Given the description of an element on the screen output the (x, y) to click on. 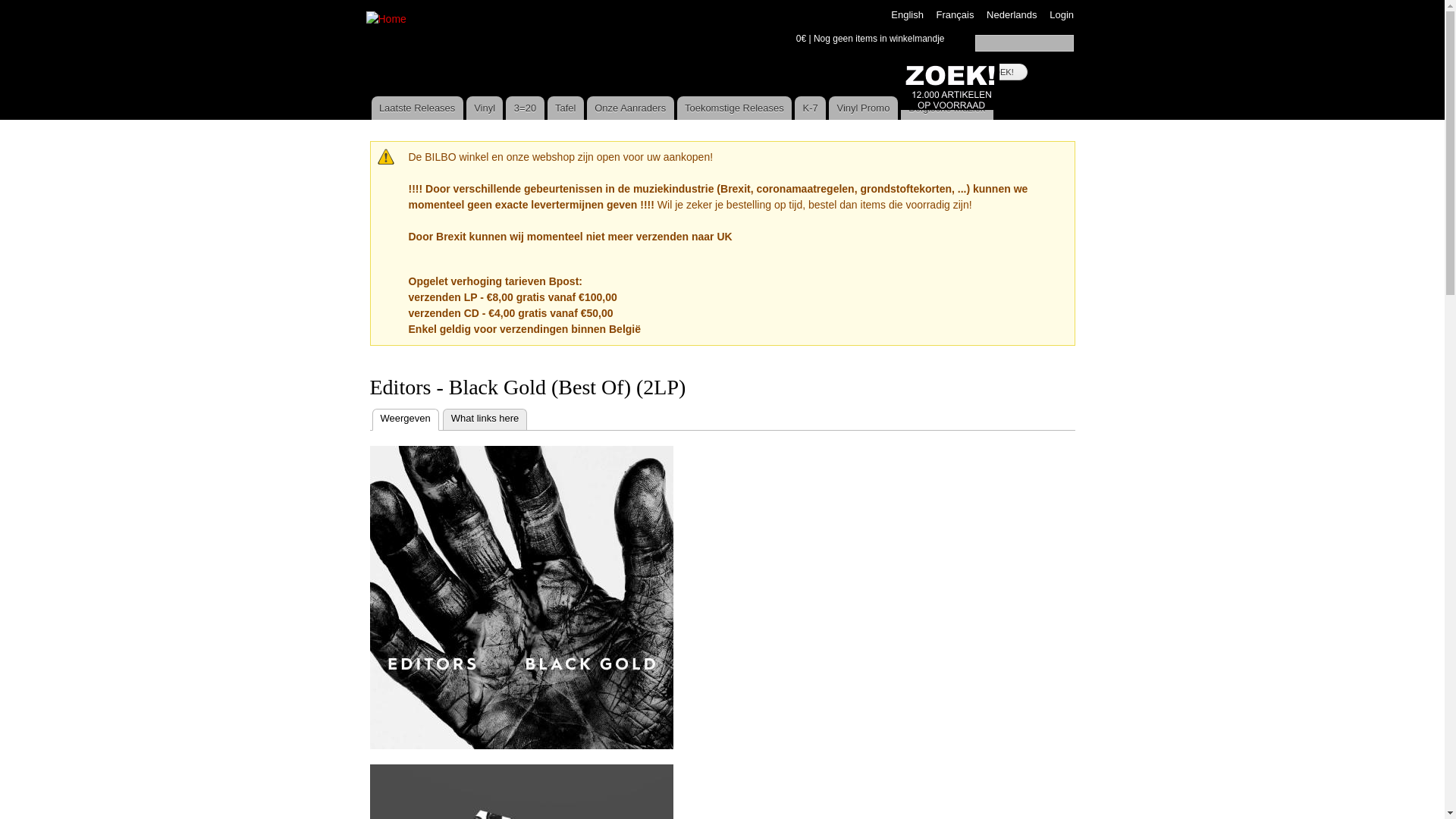
K-7 Element type: text (809, 107)
Nederlands Element type: text (1011, 14)
Toekomstige Releases Element type: text (734, 107)
Vinyl Promo Element type: text (862, 107)
3=20 Element type: text (524, 107)
Laatste Releases Element type: text (417, 107)
English Element type: text (907, 14)
What links here Element type: text (484, 418)
Home Element type: hover (387, 19)
Weergeven
(active tab) Element type: text (404, 418)
Belgische Muziek Element type: text (946, 107)
Tafel Element type: text (565, 107)
Editors - Black Gold (Best Of) (2LP) Element type: hover (521, 597)
Onze Aanraders Element type: text (630, 107)
ZOEK! Element type: text (1001, 71)
Vinyl Element type: text (484, 107)
Overslaan en naar de algemene inhoud gaan Element type: text (696, 1)
Login Element type: text (1061, 14)
